Given the description of an element on the screen output the (x, y) to click on. 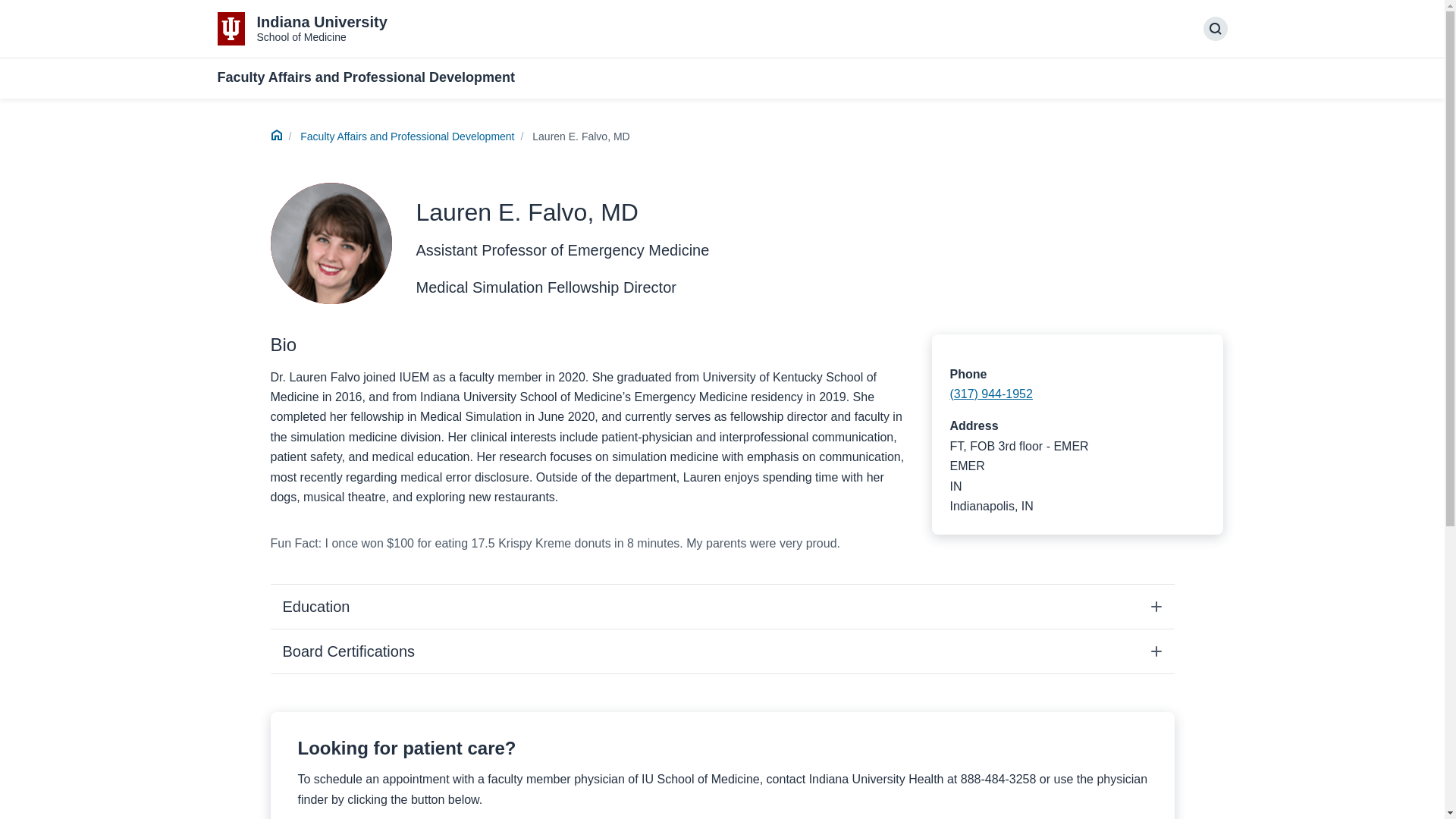
Board Certifications (721, 651)
Toggle Search Box (1214, 28)
Faculty Affairs and Professional Development (406, 136)
Education (721, 606)
Home (275, 137)
